Given the description of an element on the screen output the (x, y) to click on. 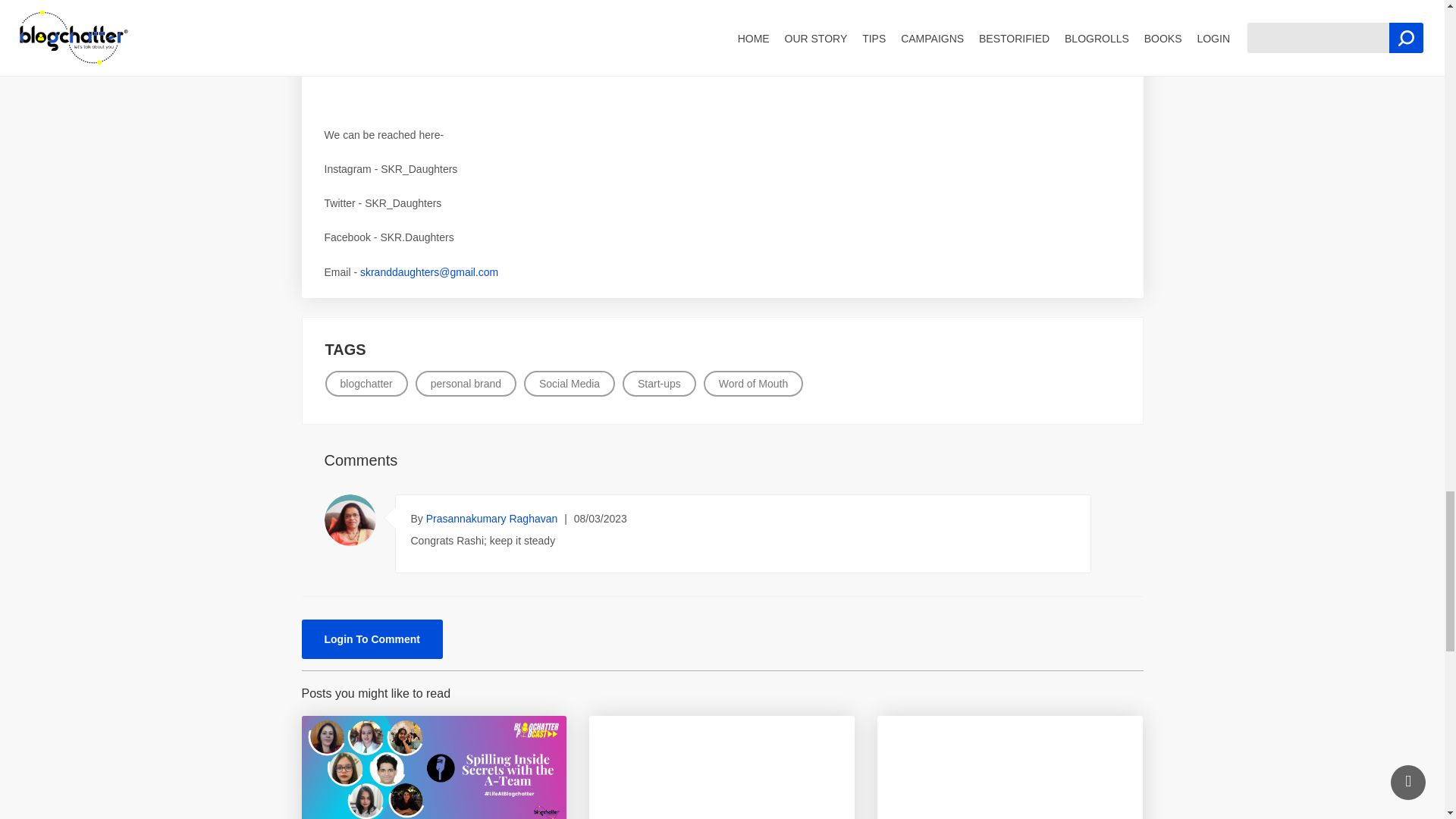
Start-ups (659, 383)
blogchatter (365, 383)
personal brand (465, 383)
Social Media (569, 383)
Word of Mouth (753, 383)
Login To Comment (372, 639)
Prasannakumary Raghavan (493, 518)
